Given the description of an element on the screen output the (x, y) to click on. 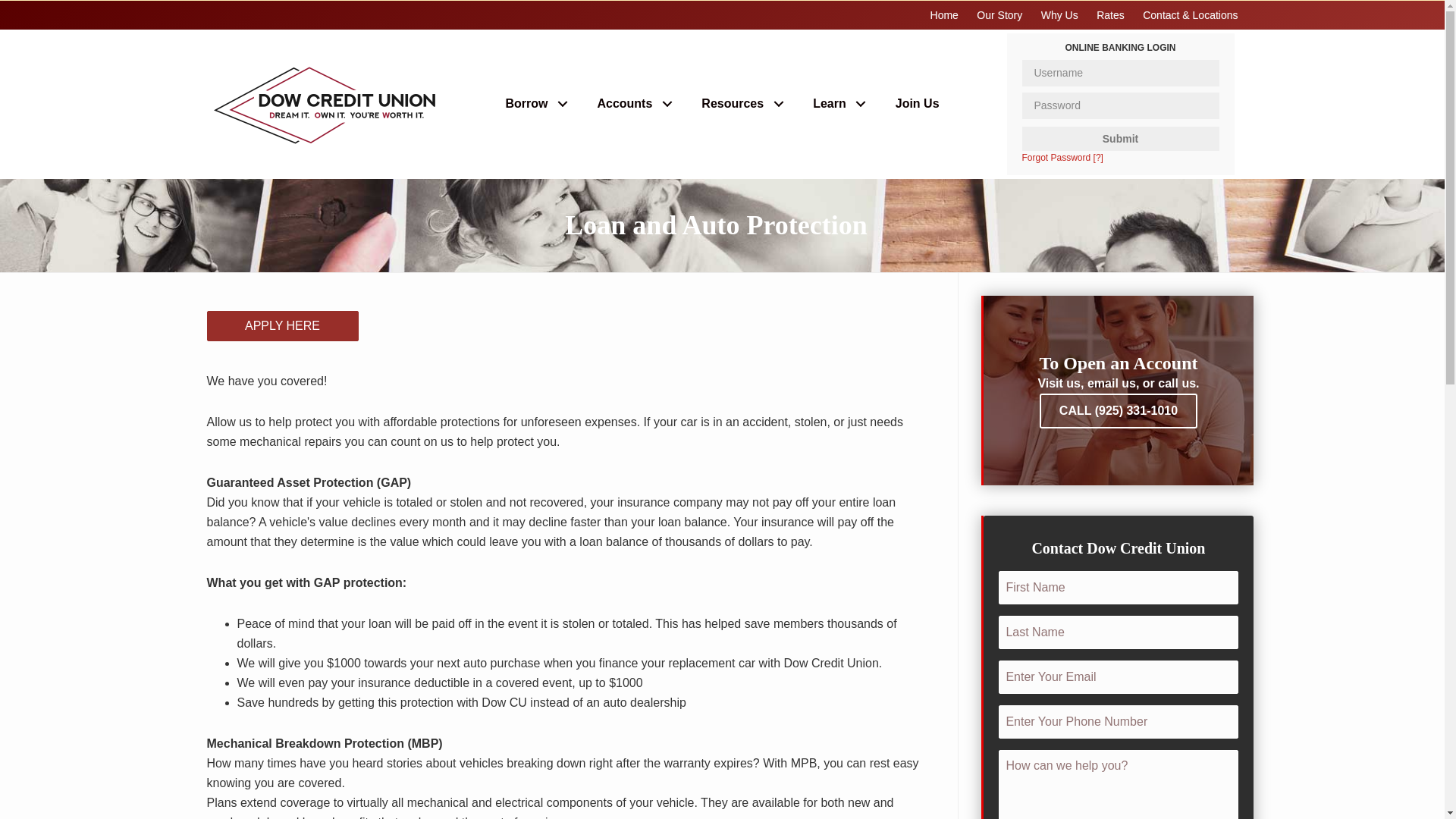
Home (944, 15)
Our Story (999, 15)
Rates (1110, 15)
Accounts (629, 103)
Borrow (531, 103)
Why Us (1059, 15)
Submit (1121, 138)
